Given the description of an element on the screen output the (x, y) to click on. 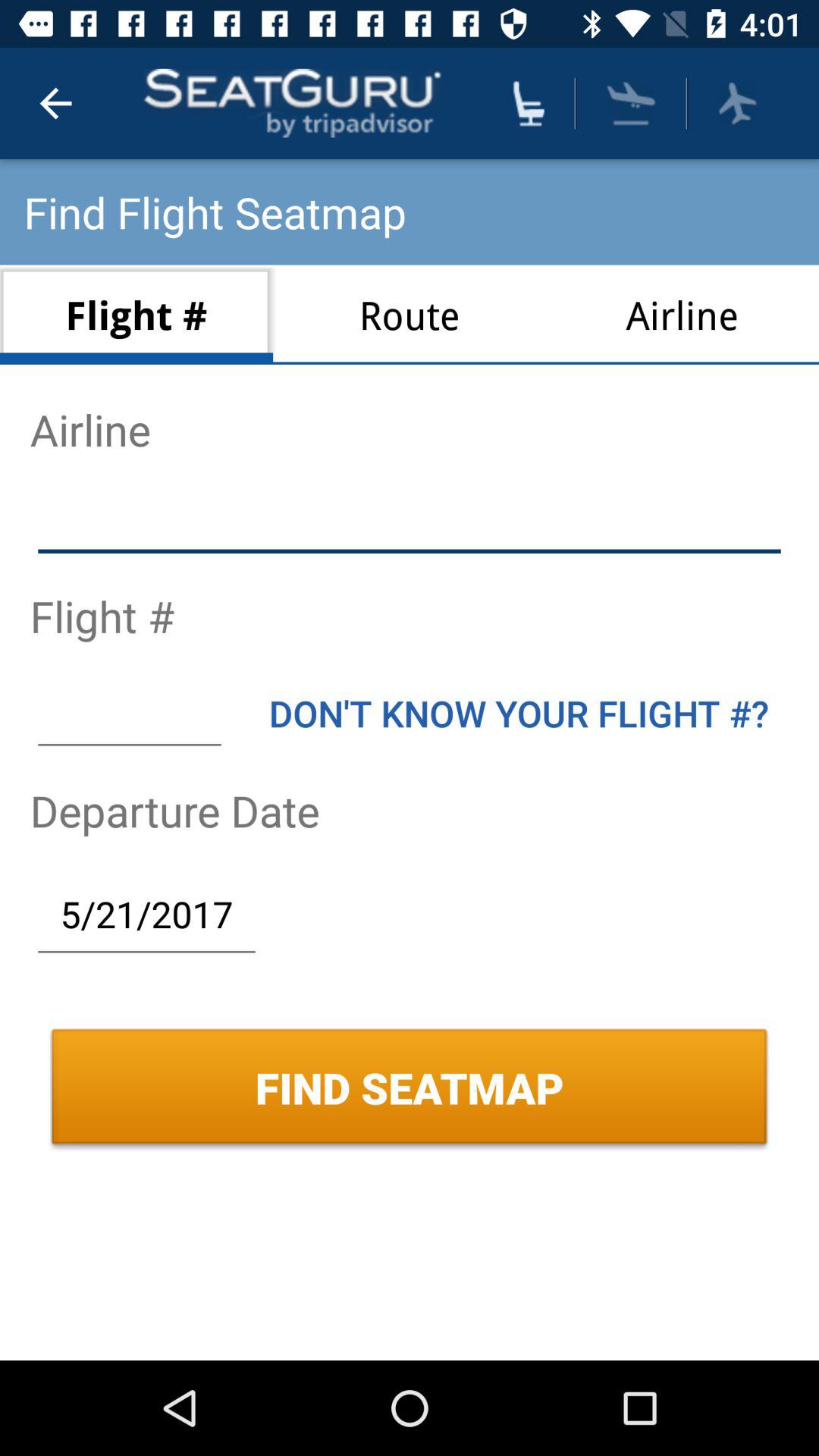
choose icon above route (528, 103)
